Given the description of an element on the screen output the (x, y) to click on. 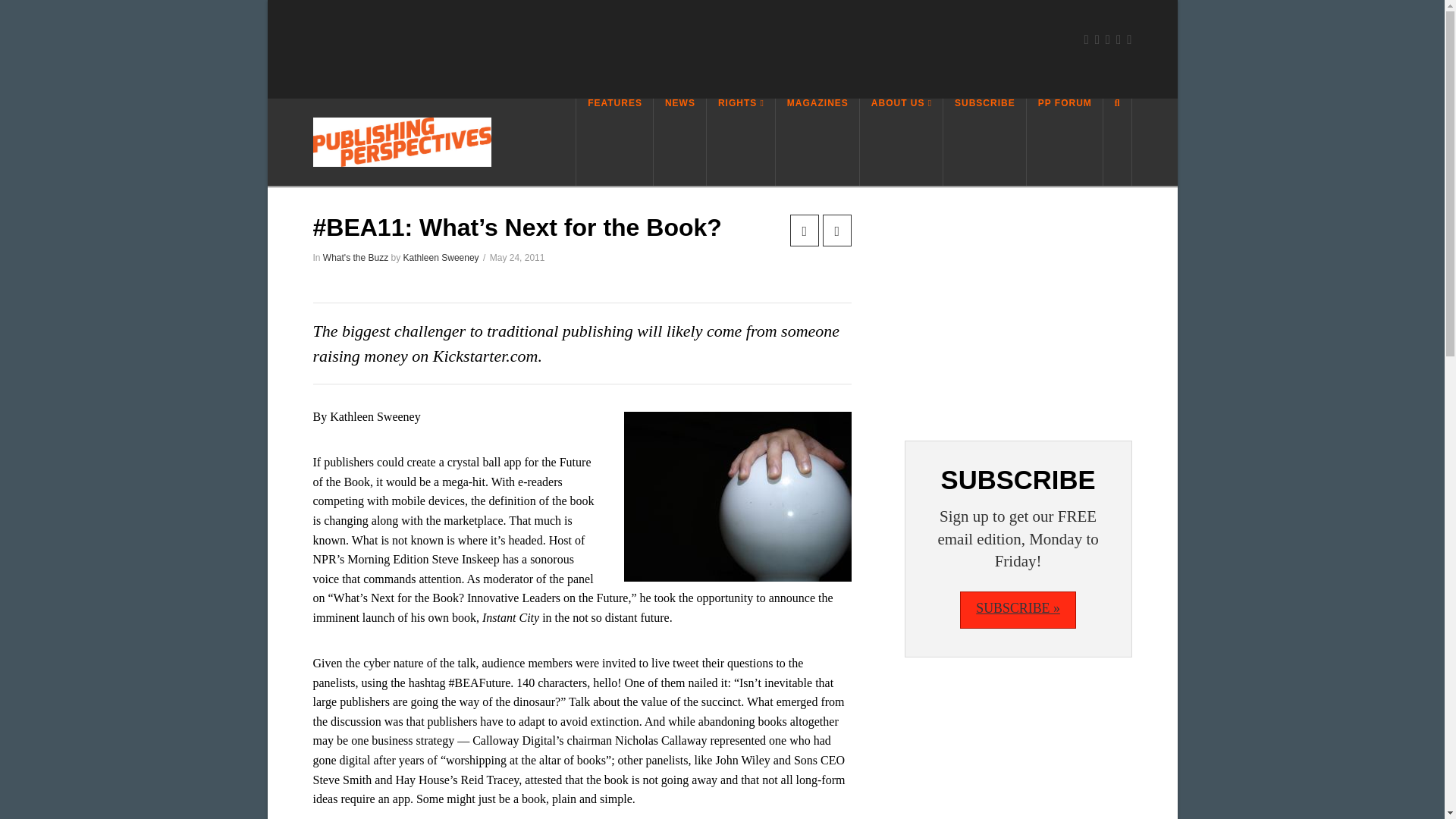
FEATURES (614, 141)
Kathleen Sweeney (441, 257)
ABOUT US (901, 141)
SUBSCRIBE (984, 141)
What's the Buzz (355, 257)
crystal-ball (737, 496)
MAGAZINES (818, 141)
